Given the description of an element on the screen output the (x, y) to click on. 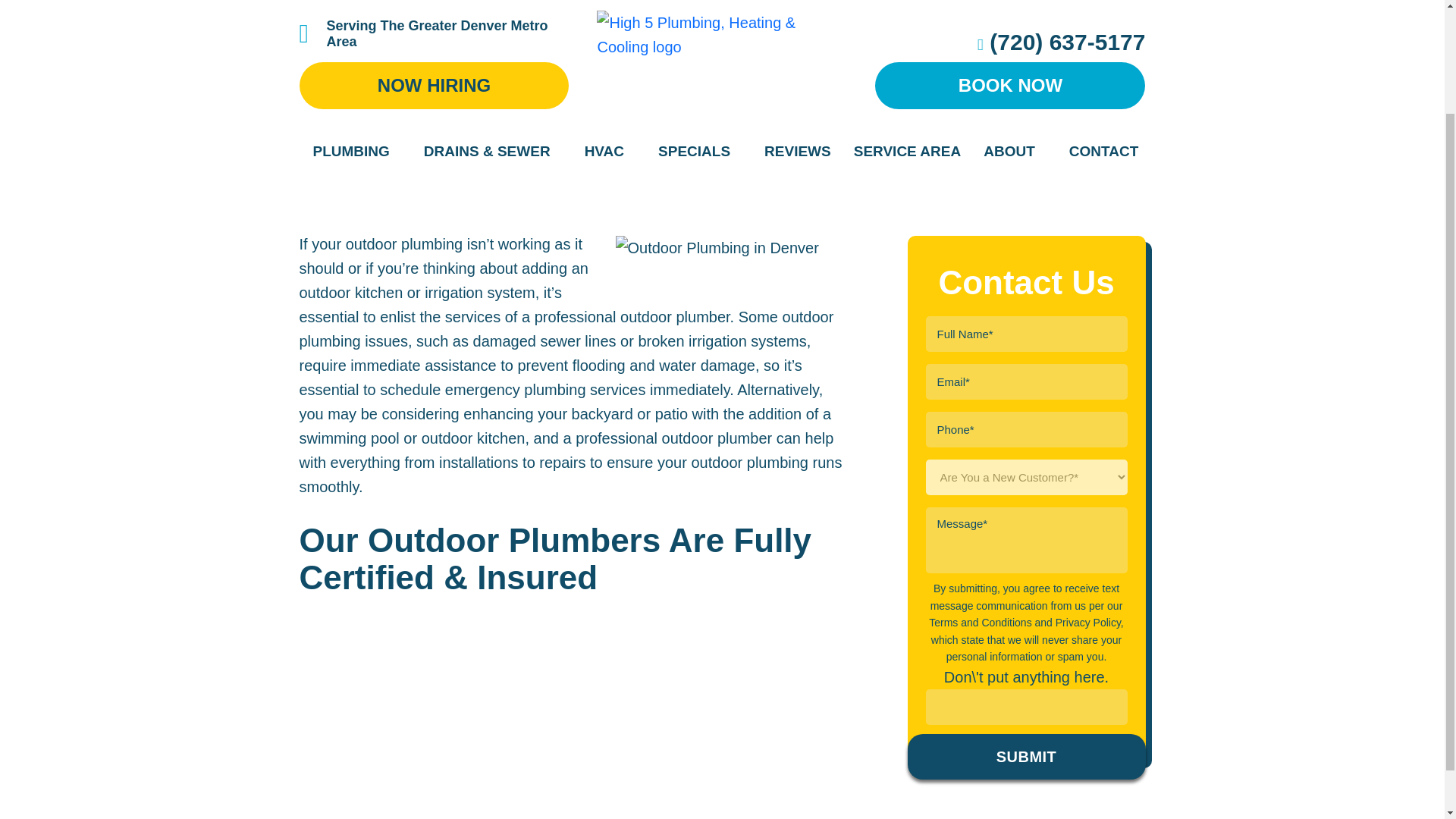
HVAC (609, 23)
PLUMBING (356, 23)
SPECIALS (699, 23)
Submit (1025, 756)
